Given the description of an element on the screen output the (x, y) to click on. 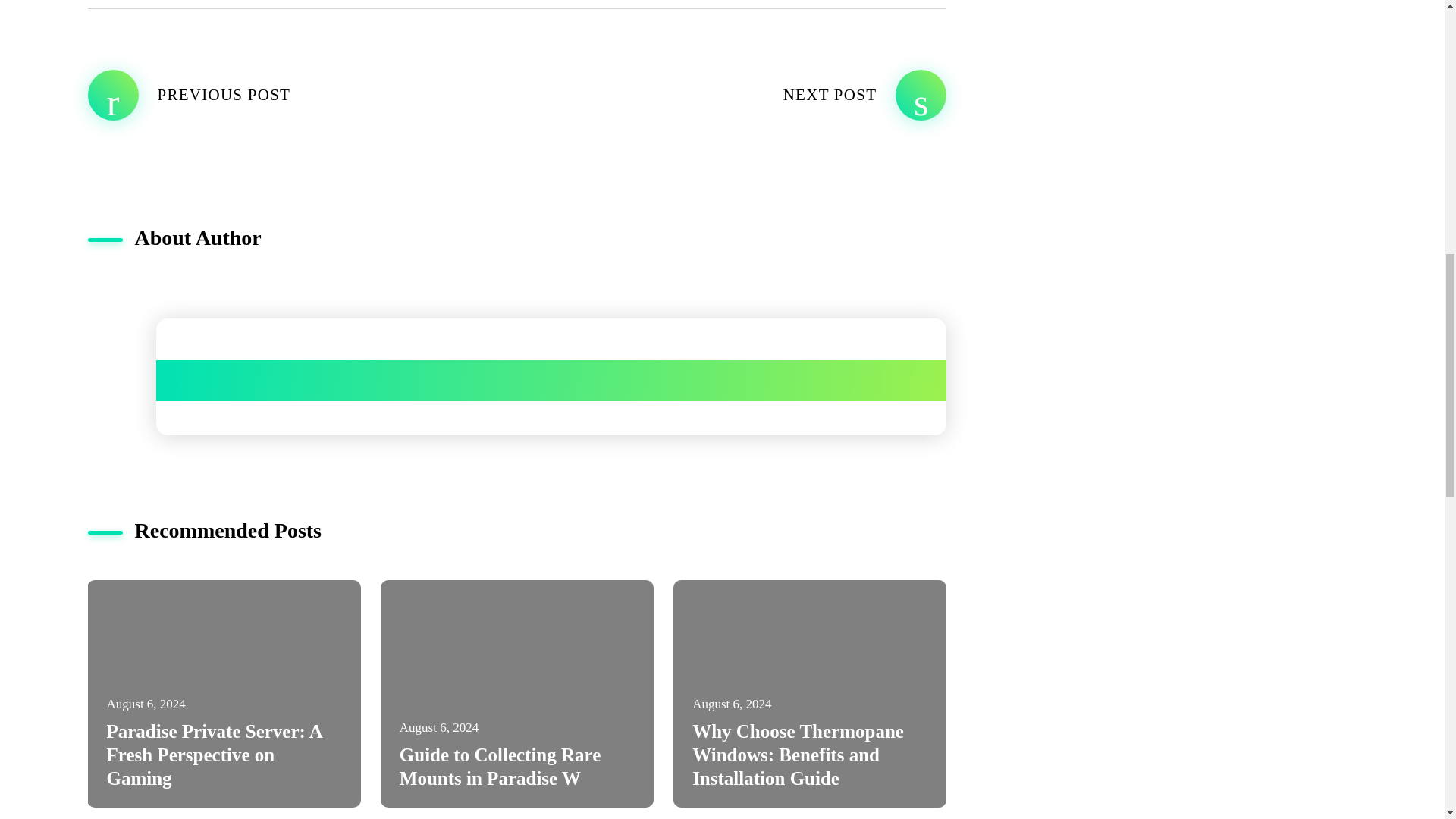
PREVIOUS POST (301, 94)
NEXT POST (731, 94)
